Given the description of an element on the screen output the (x, y) to click on. 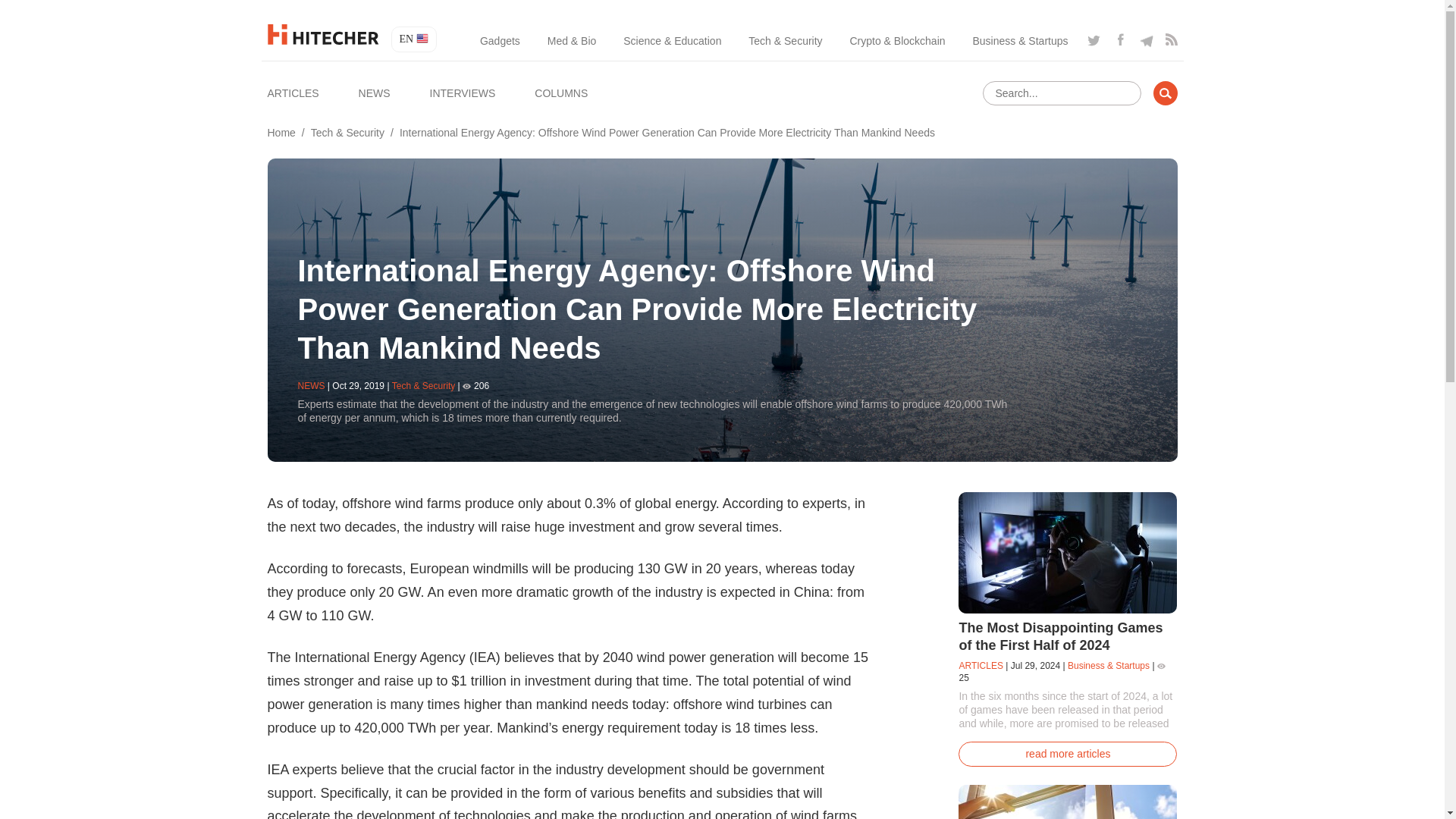
NEWS (374, 92)
INTERVIEWS (462, 92)
read more articles (1067, 754)
Search Results for: (1061, 93)
COLUMNS (561, 92)
ARTICLES (292, 92)
Oct 29, 2019 (357, 385)
The Most Disappointing Games of the First Half of 2024 (1059, 635)
Gadgets (499, 40)
Jul 29, 2024 (1034, 665)
